Given the description of an element on the screen output the (x, y) to click on. 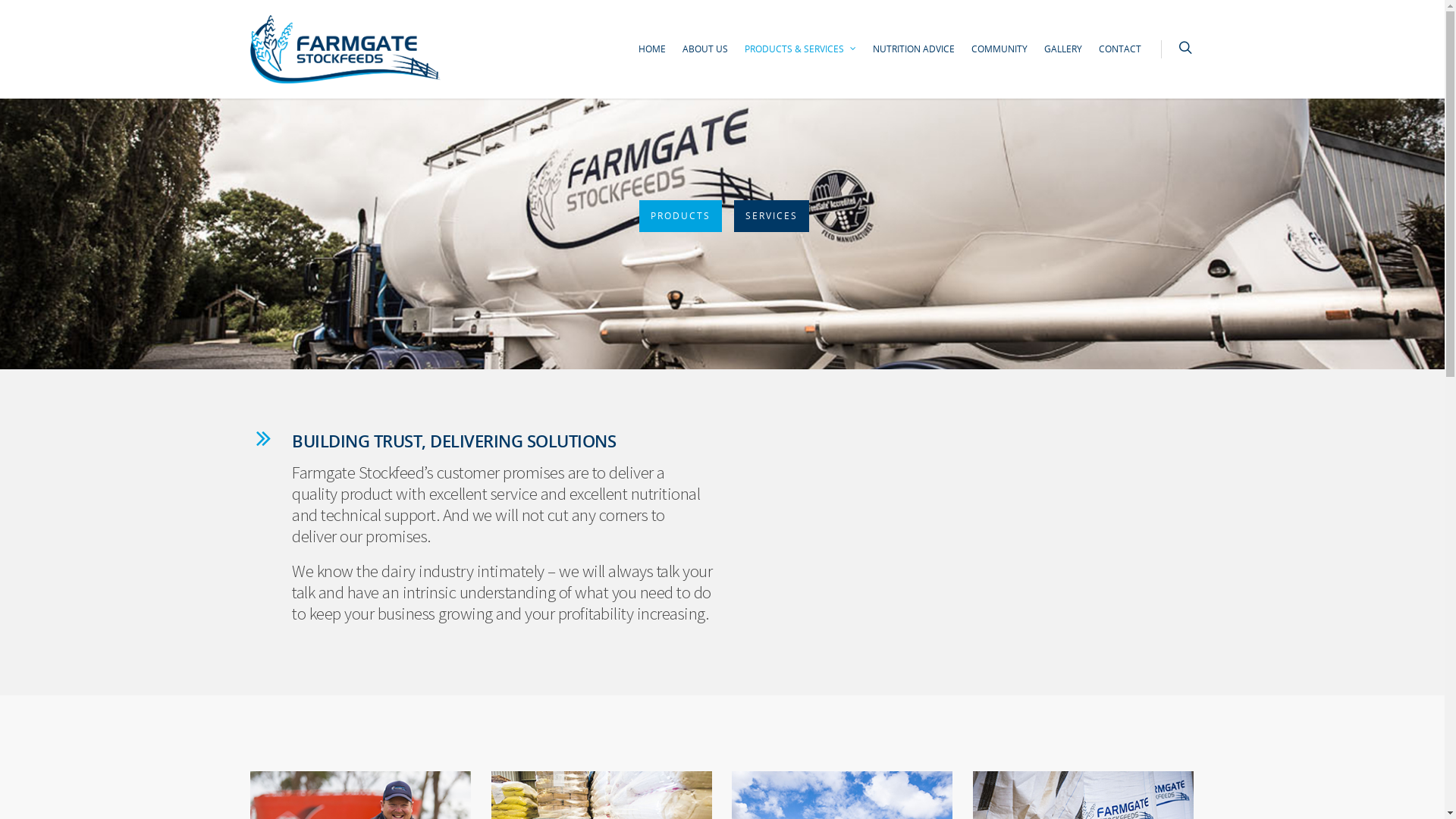
CONTACT Element type: text (1119, 56)
ABOUT US Element type: text (704, 56)
PRODUCTS & SERVICES Element type: text (800, 56)
HOME Element type: text (651, 56)
PRODUCTS Element type: text (679, 216)
SERVICES Element type: text (771, 216)
NUTRITION ADVICE Element type: text (913, 56)
GALLERY Element type: text (1062, 56)
COMMUNITY Element type: text (999, 56)
